Given the description of an element on the screen output the (x, y) to click on. 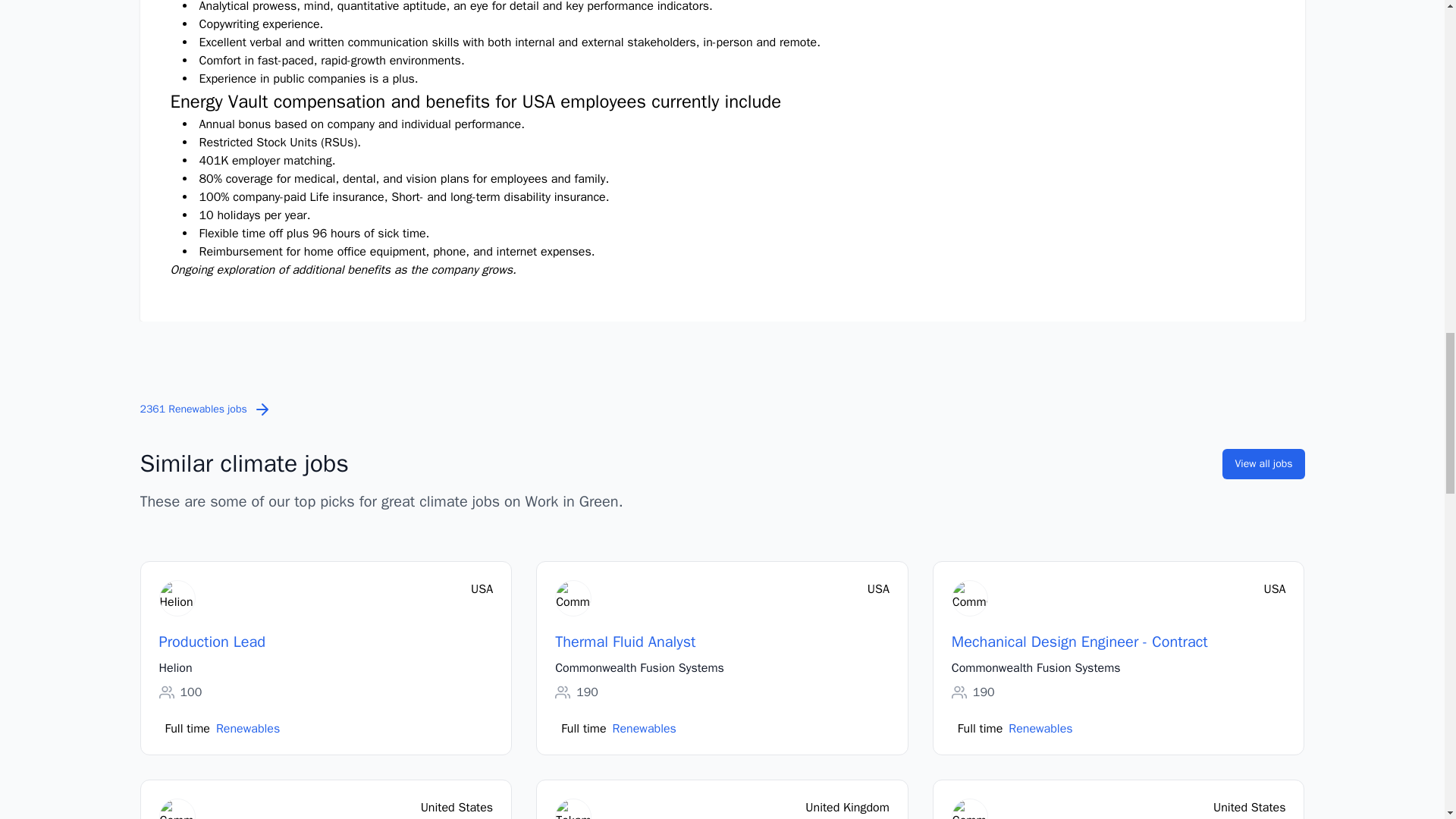
Commonwealth Fusion Systems (638, 668)
Thermal Fluid Analyst (624, 641)
View all jobs (1263, 463)
Renewables (1040, 728)
Production Lead (212, 641)
2361 Renewables jobs (204, 409)
Mechanical Design Engineer - Contract (1080, 641)
Commonwealth Fusion Systems (1036, 668)
Renewables (247, 728)
Renewables (644, 728)
